Given the description of an element on the screen output the (x, y) to click on. 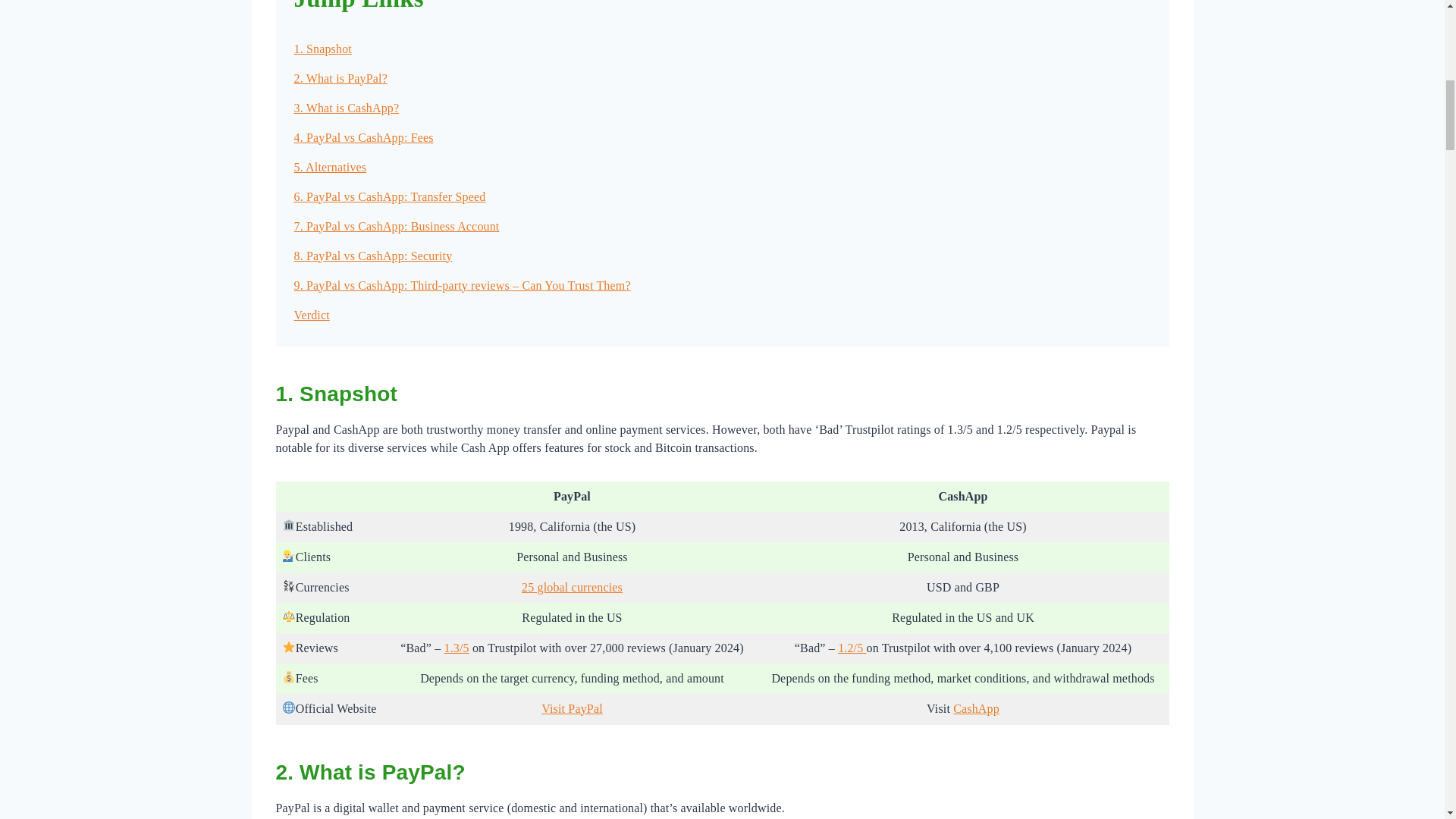
2. What is PayPal? (340, 77)
3. What is CashApp? (346, 107)
1. Snapshot (323, 48)
5. Alternatives (330, 166)
4. PayPal vs CashApp: Fees (363, 136)
